Given the description of an element on the screen output the (x, y) to click on. 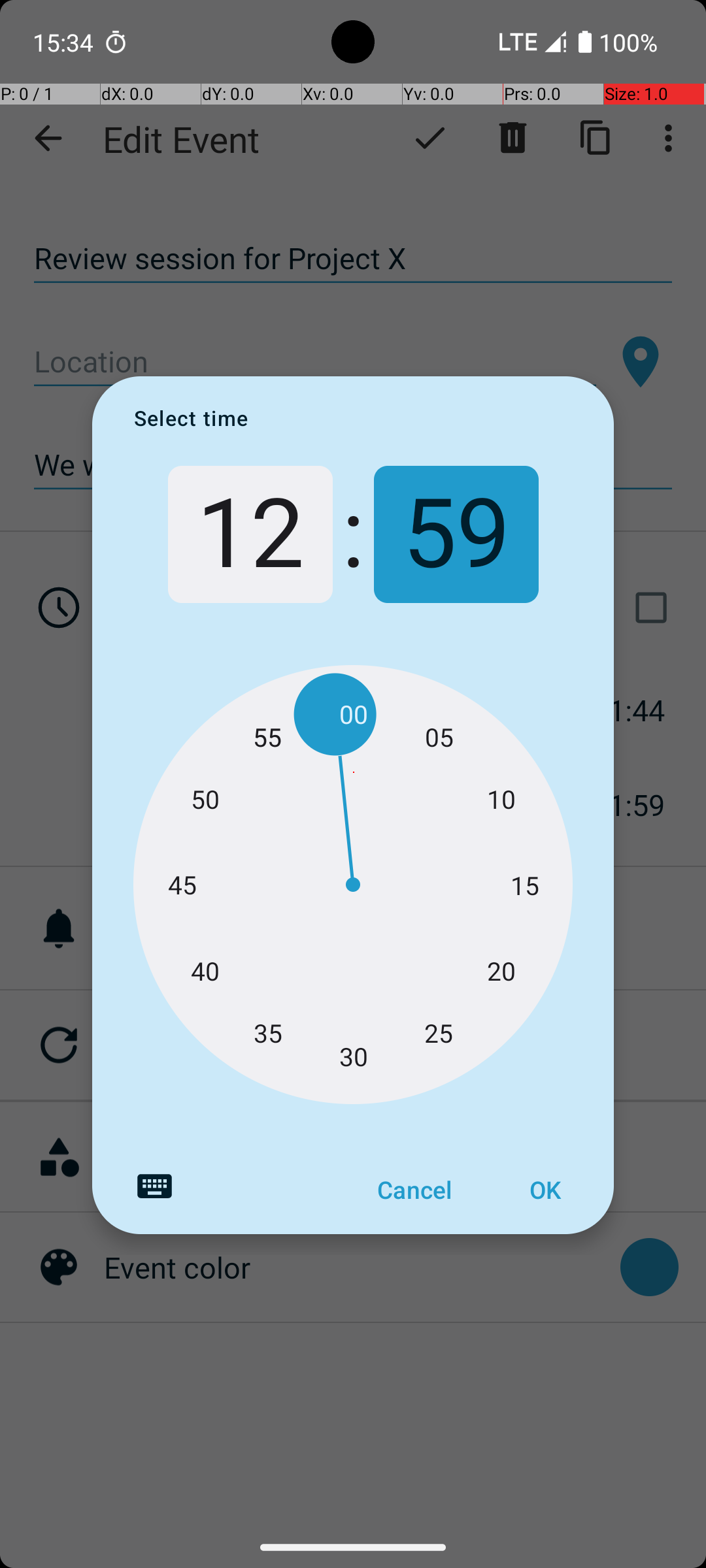
59 Element type: android.view.View (455, 534)
